Given the description of an element on the screen output the (x, y) to click on. 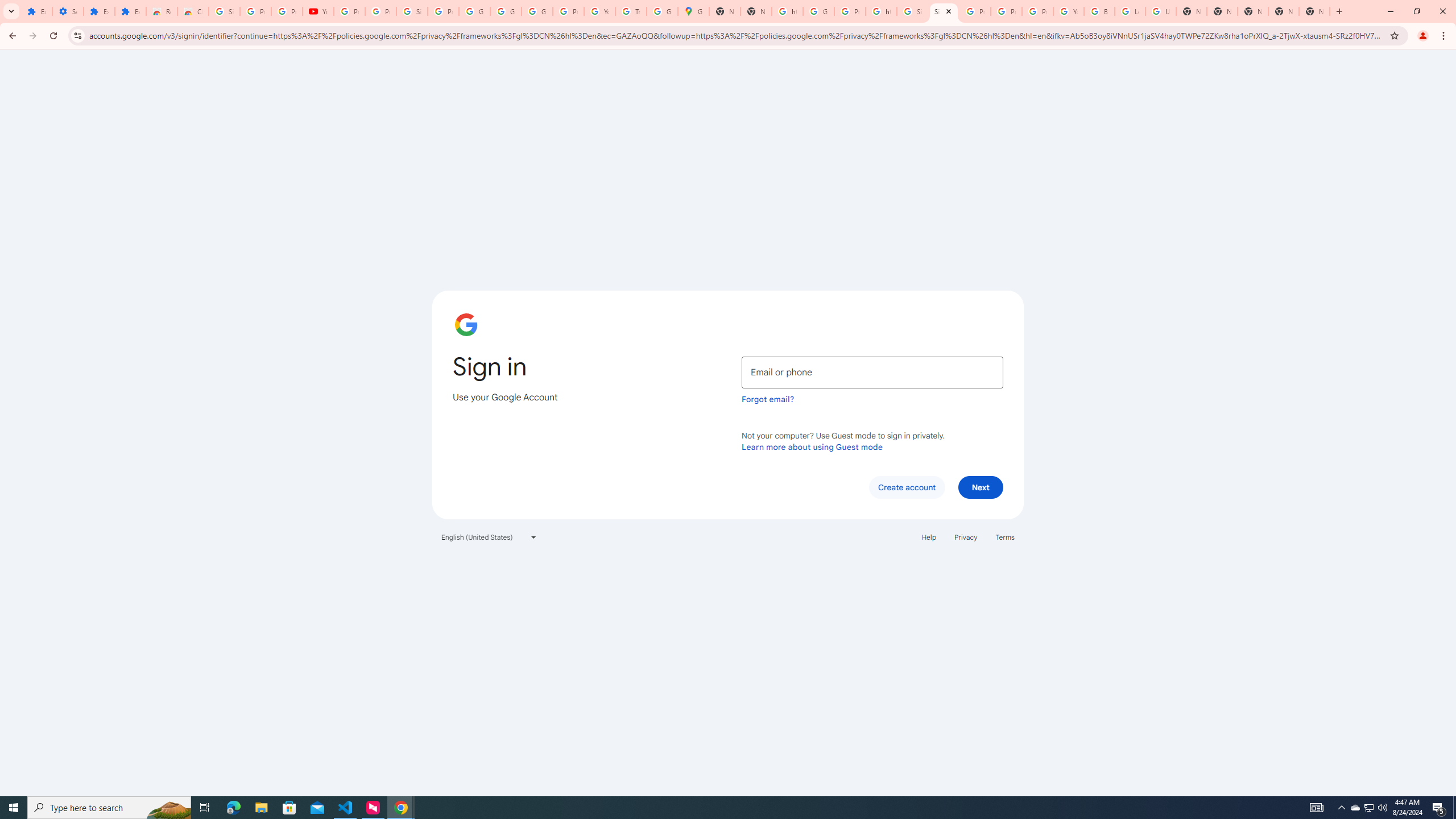
Sign in - Google Accounts (411, 11)
New Tab (1222, 11)
https://scholar.google.com/ (787, 11)
YouTube (1068, 11)
New Tab (1314, 11)
Google Account (505, 11)
